Given the description of an element on the screen output the (x, y) to click on. 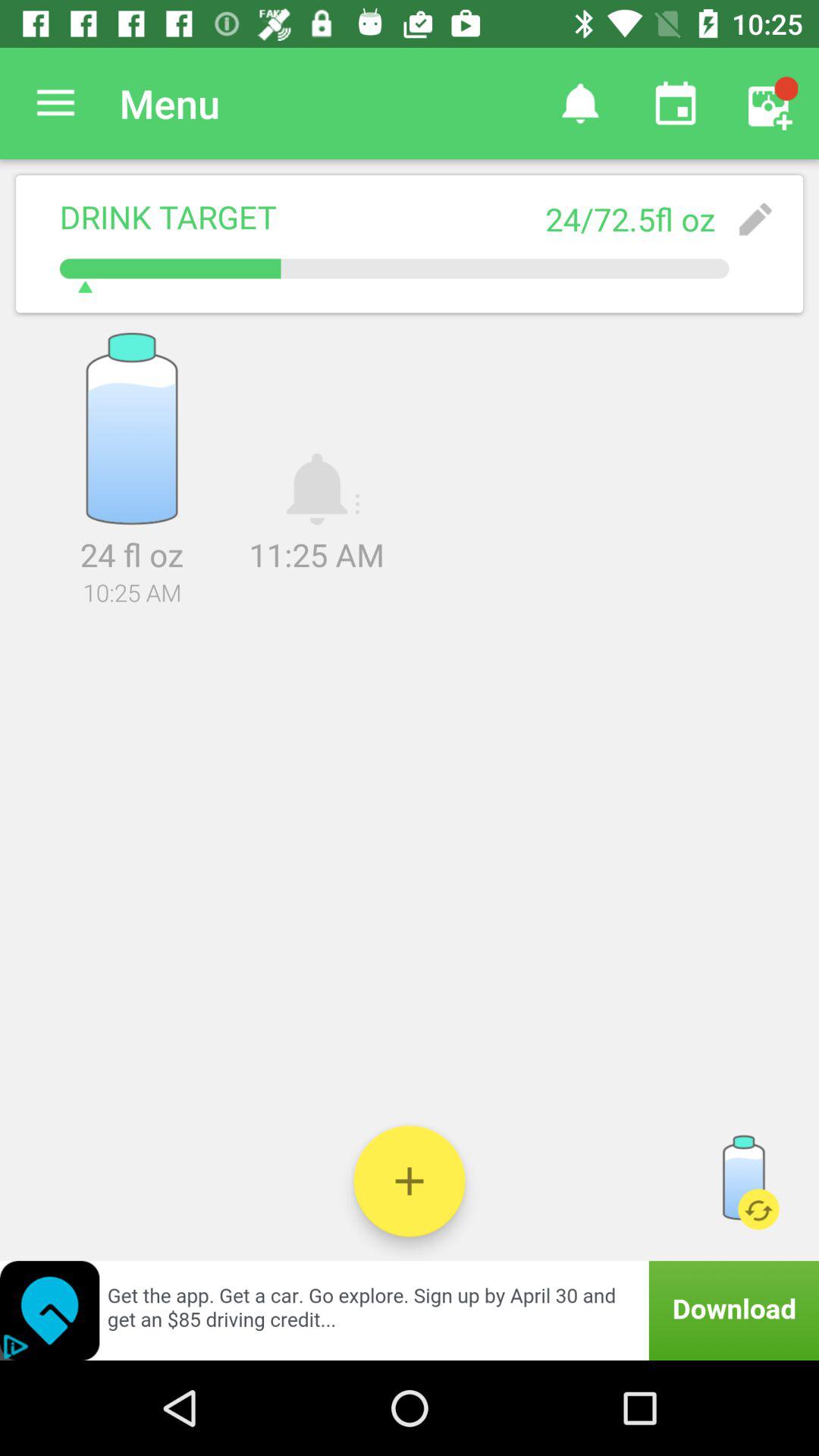
launch item next to the menu (579, 103)
